Given the description of an element on the screen output the (x, y) to click on. 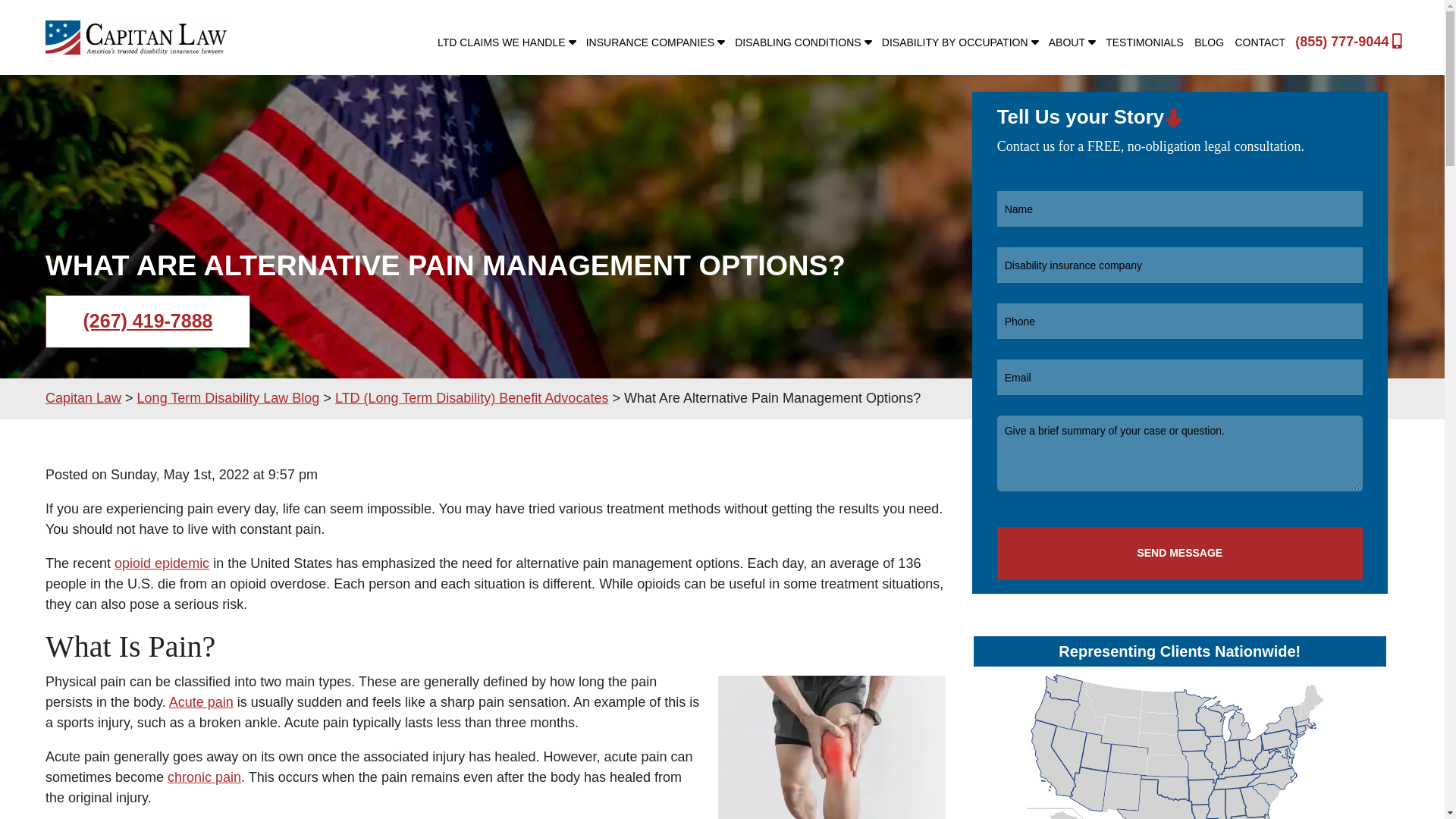
INSURANCE COMPANIES (655, 42)
LTD CLAIMS WE HANDLE (506, 42)
DISABLING CONDITIONS (802, 42)
DISABILITY BY OCCUPATION (959, 42)
Go to Long Term Disability Law Blog. (228, 397)
What You Need to Know About Your Chronic Pain Syndrome (204, 776)
SEND MESSAGE (1179, 553)
Go to Capitan Law. (82, 397)
